Given the description of an element on the screen output the (x, y) to click on. 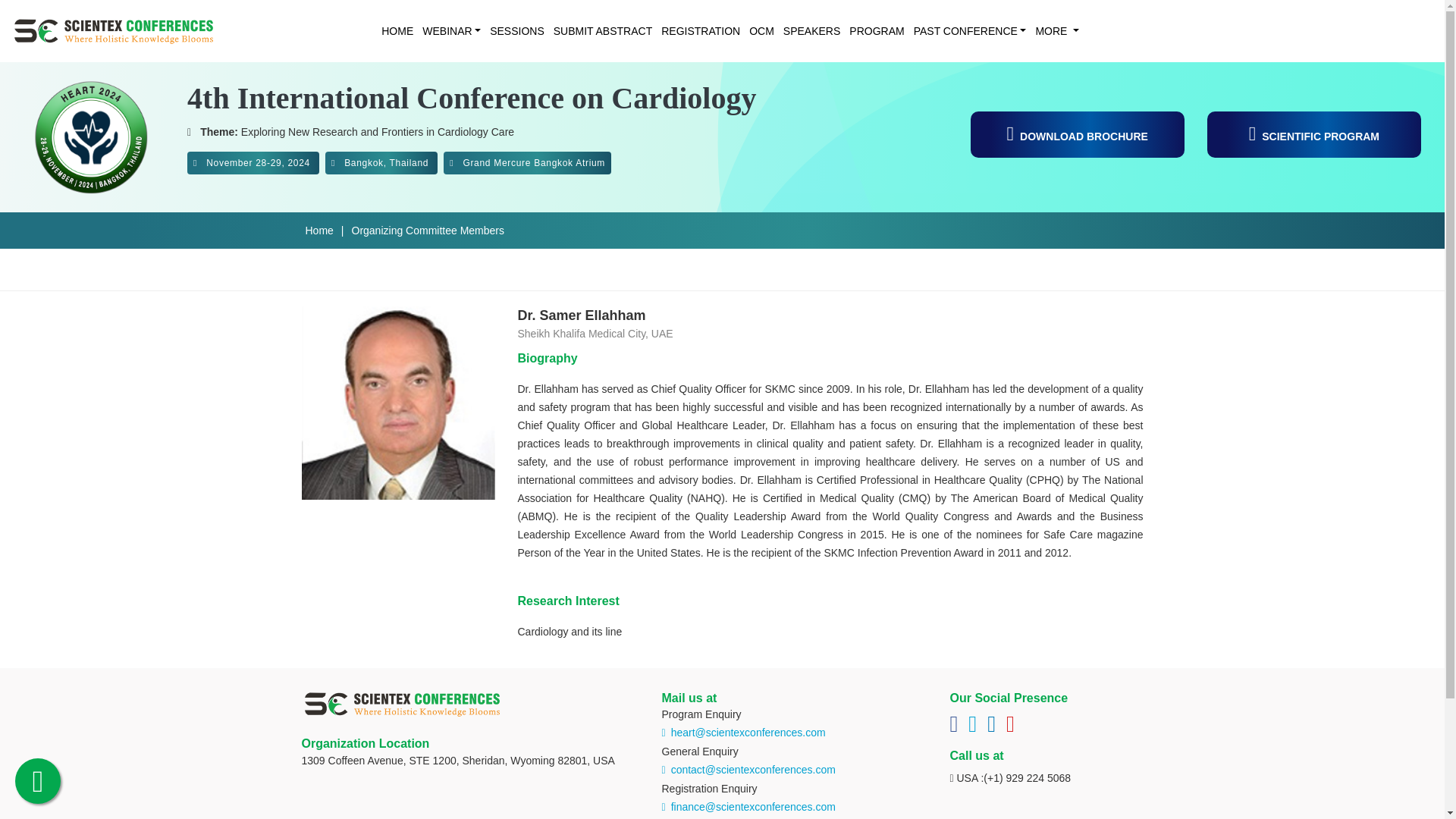
PAST CONFERENCE (965, 30)
SESSIONS (512, 30)
SUBMIT ABSTRACT (598, 30)
WEBINAR (446, 30)
SCIENTIFIC PROGRAM (1314, 133)
REGISTRATION (695, 30)
SPEAKERS (807, 30)
PROGRAM (872, 30)
DOWNLOAD BROCHURE (1078, 133)
Home (318, 230)
